Given the description of an element on the screen output the (x, y) to click on. 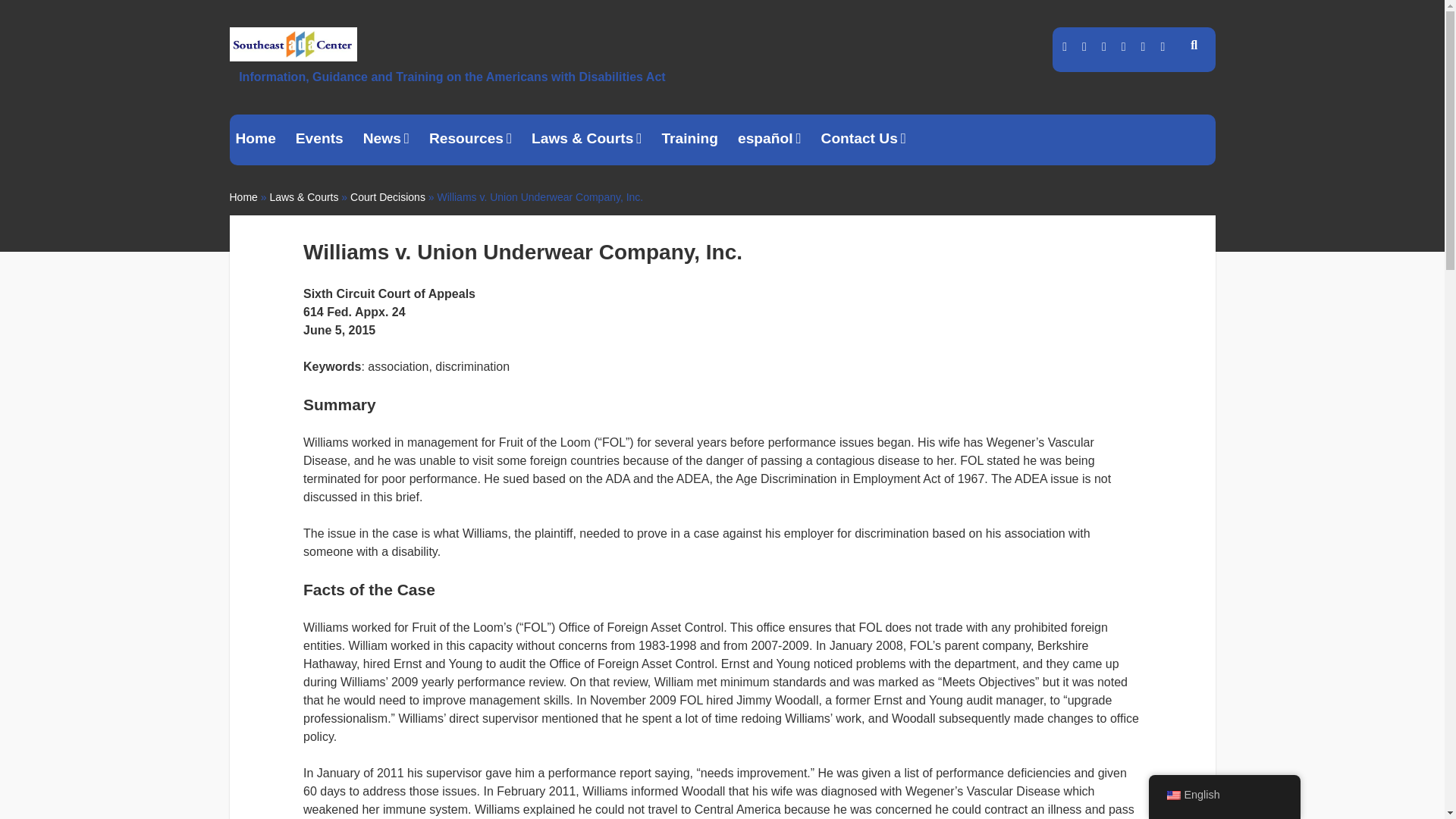
Court Decisions (387, 196)
English (1172, 795)
Home (242, 196)
Contact Us (863, 139)
Events (319, 139)
Resources (470, 139)
Training (689, 139)
Southeast ADA Center (292, 55)
Home (254, 139)
News (385, 139)
